Given the description of an element on the screen output the (x, y) to click on. 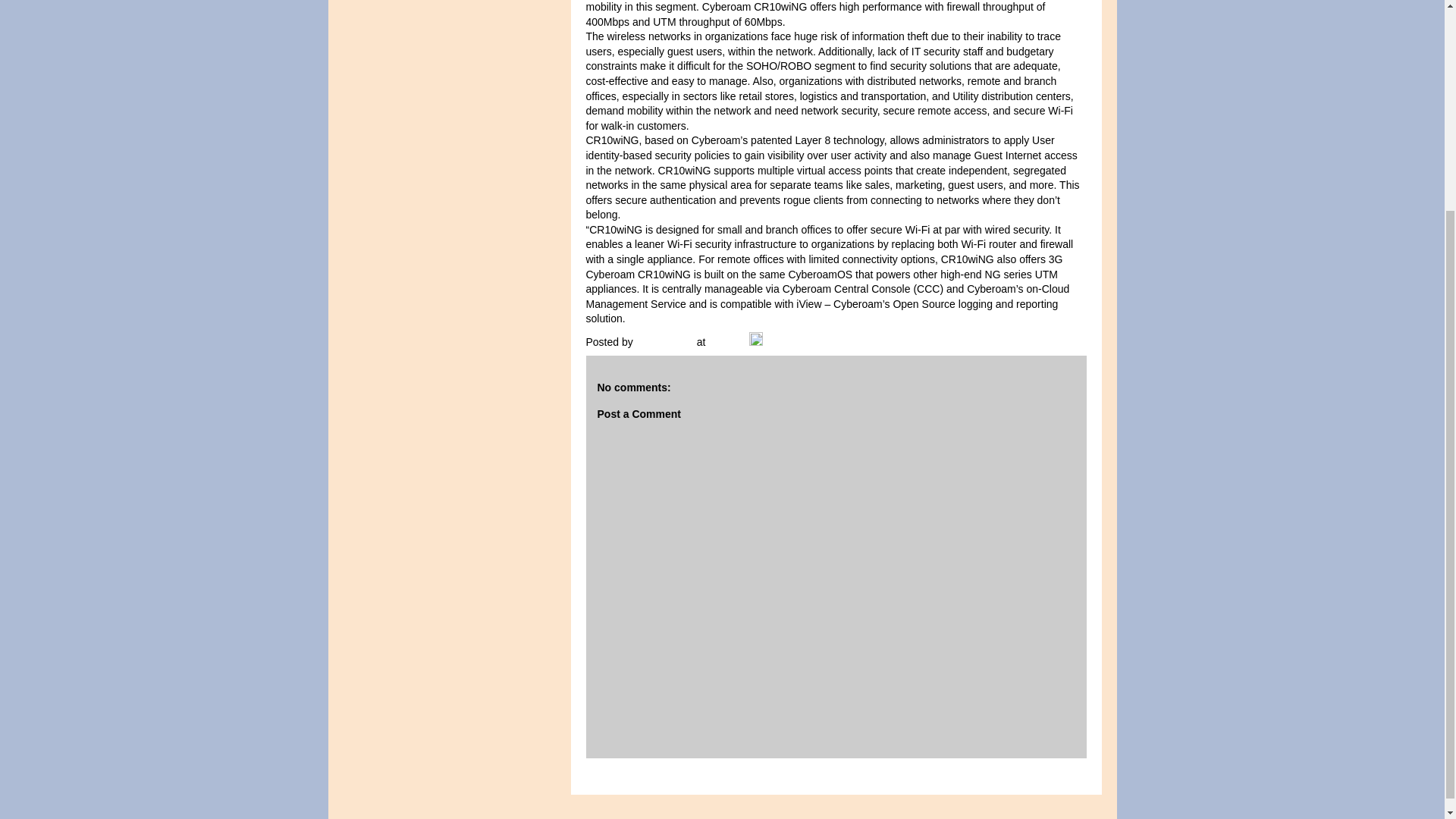
permanent link (726, 341)
News Room (666, 341)
author profile (666, 341)
Edit Post (755, 341)
